Given the description of an element on the screen output the (x, y) to click on. 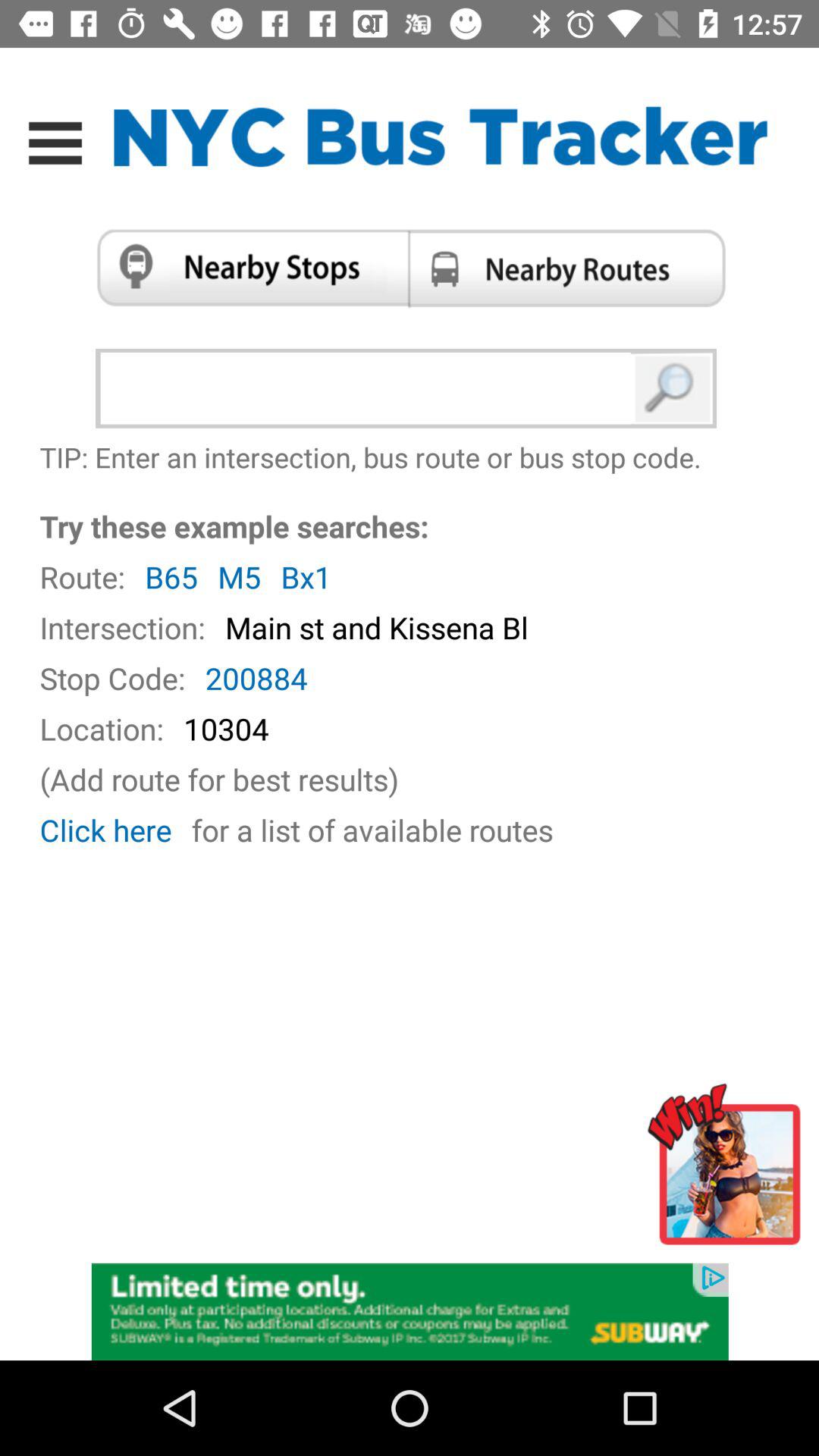
find nearby routes (571, 267)
